Given the description of an element on the screen output the (x, y) to click on. 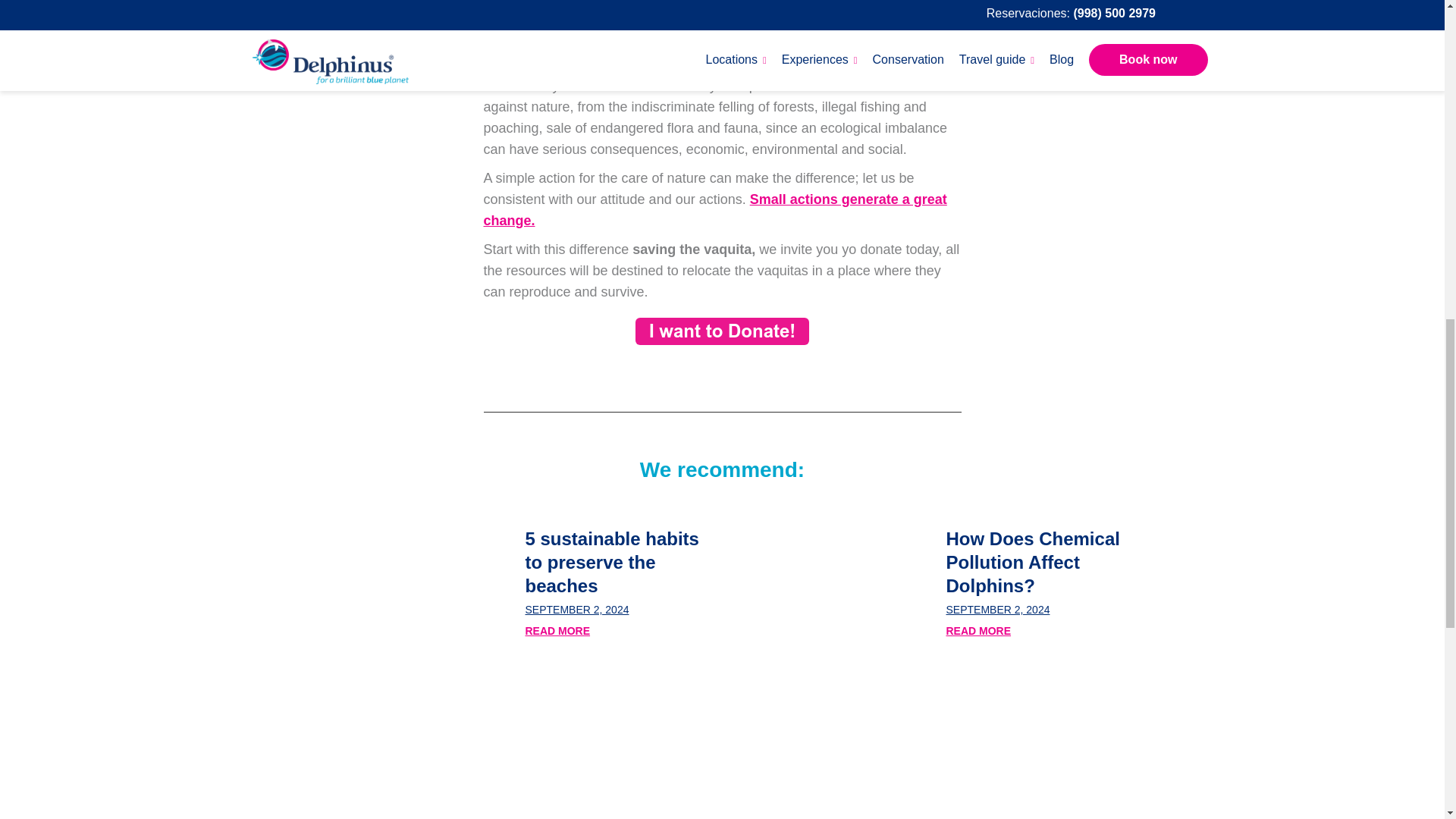
SEPTEMBER 2, 2024 (576, 609)
READ MORE (556, 630)
Small actions generate a great change. (715, 209)
SEPTEMBER 2, 2024 (997, 609)
READ MORE (978, 630)
How Does Chemical Pollution Affect Dolphins? (1032, 562)
5 sustainable habits to preserve the beaches (611, 562)
